Given the description of an element on the screen output the (x, y) to click on. 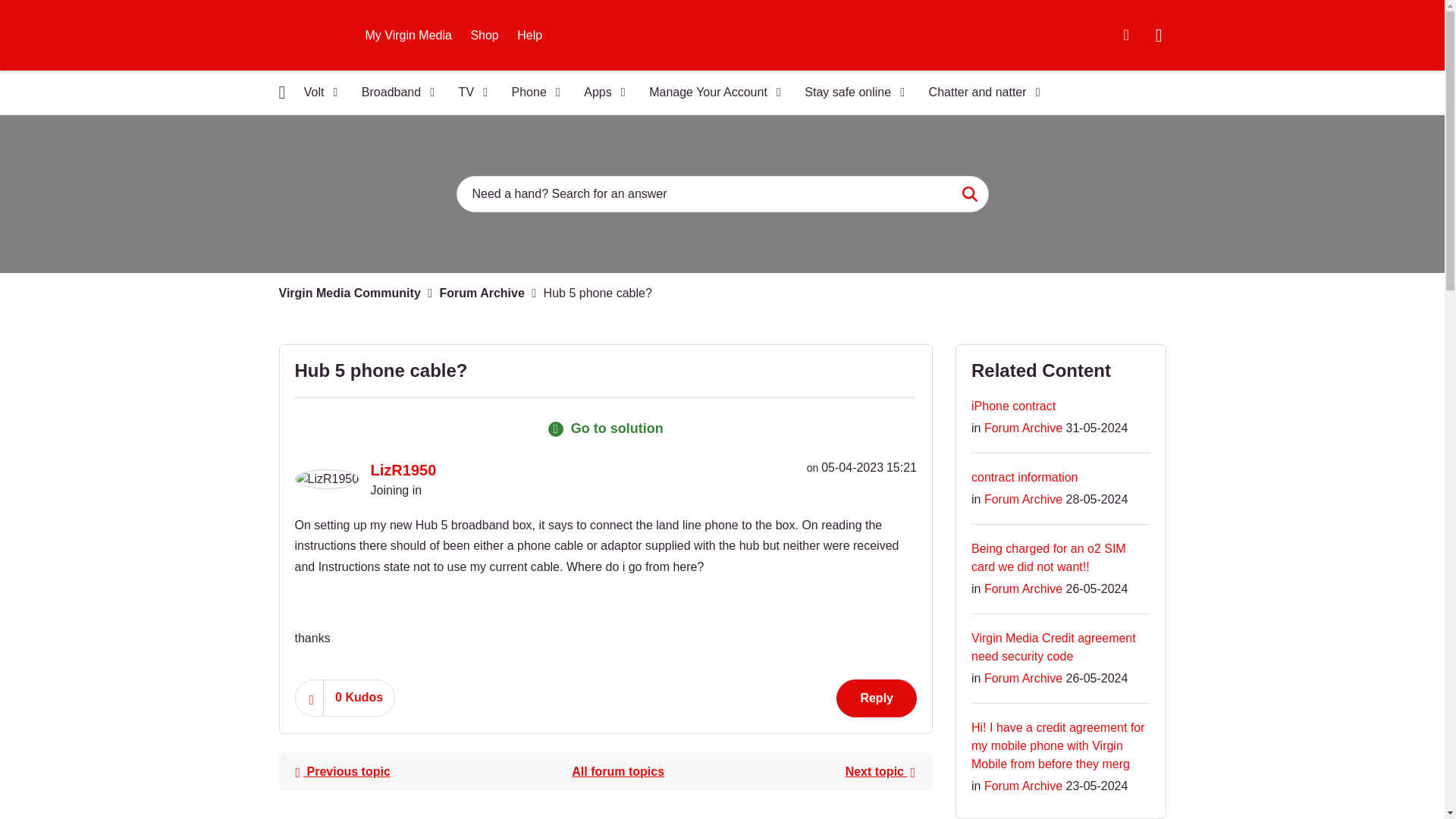
Help (529, 34)
The total number of kudos this post has received. (358, 697)
Search (969, 193)
Search (722, 194)
Volt (315, 92)
Forum Archive (618, 771)
Search (969, 193)
LizR1950 (326, 478)
Shop (484, 34)
Broadband (392, 92)
Apps (599, 92)
Landline to hub adaptor (341, 771)
TV (468, 92)
Phone (531, 92)
My Virgin Media (409, 34)
